Given the description of an element on the screen output the (x, y) to click on. 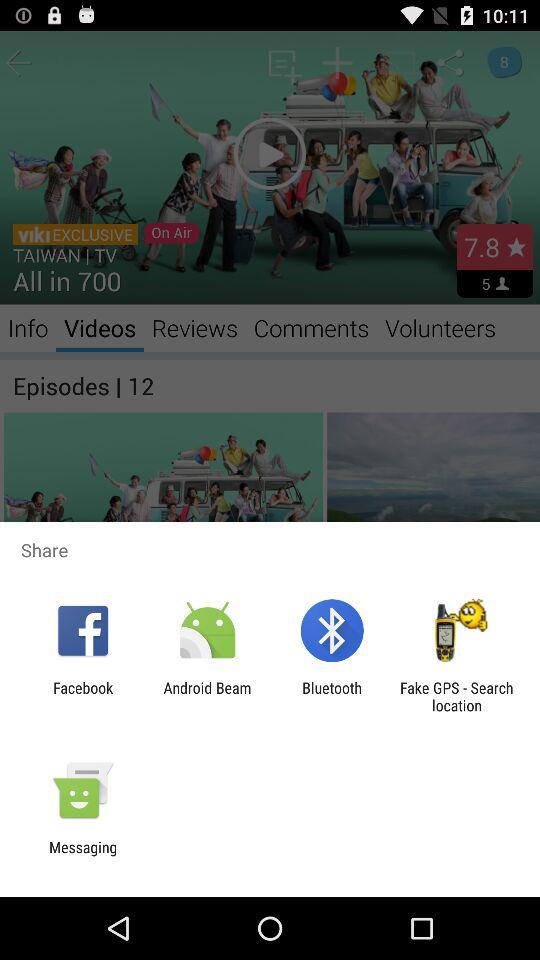
swipe until the fake gps search app (456, 696)
